Given the description of an element on the screen output the (x, y) to click on. 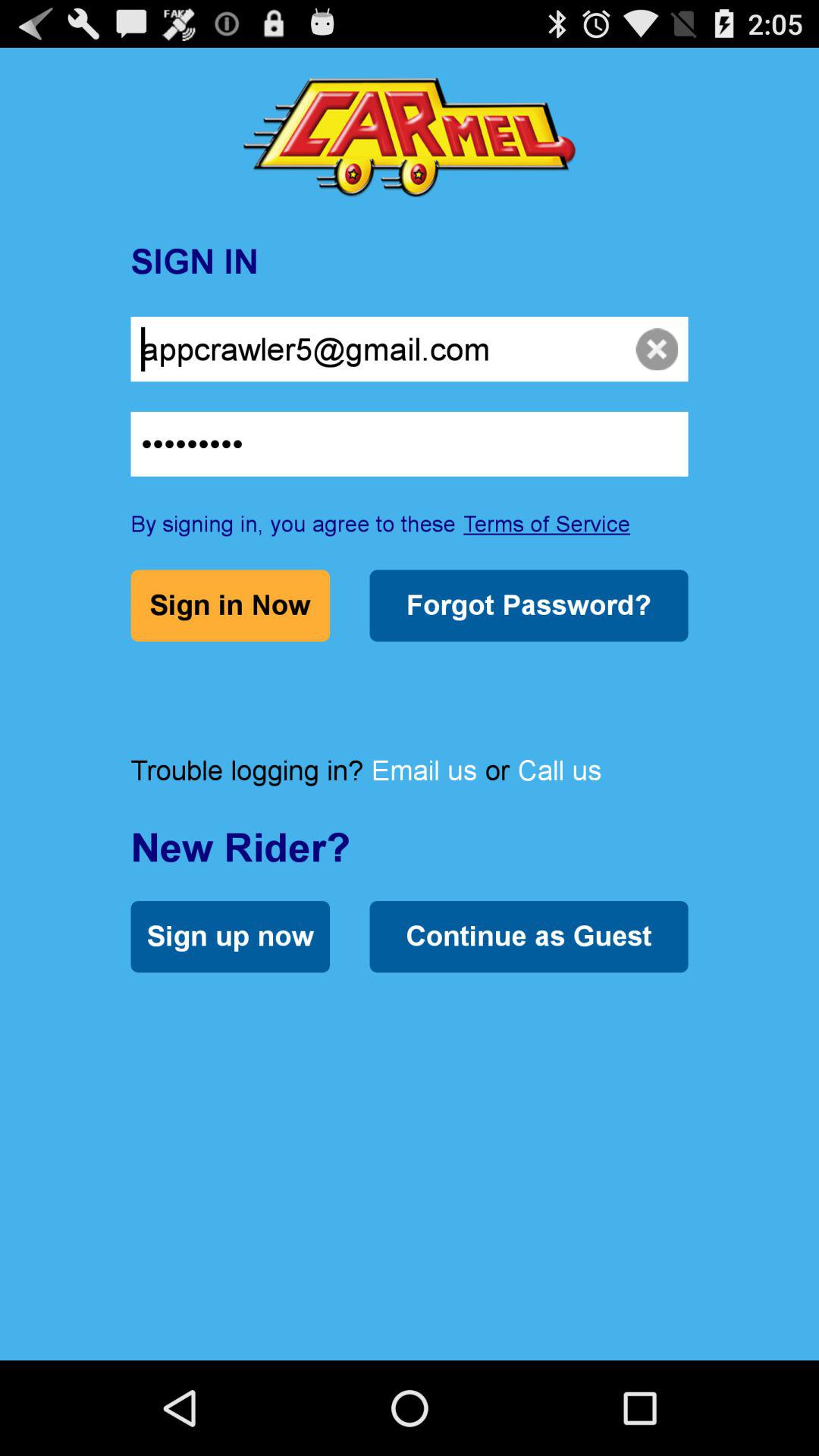
choose item to the right of trouble logging in? (424, 770)
